Given the description of an element on the screen output the (x, y) to click on. 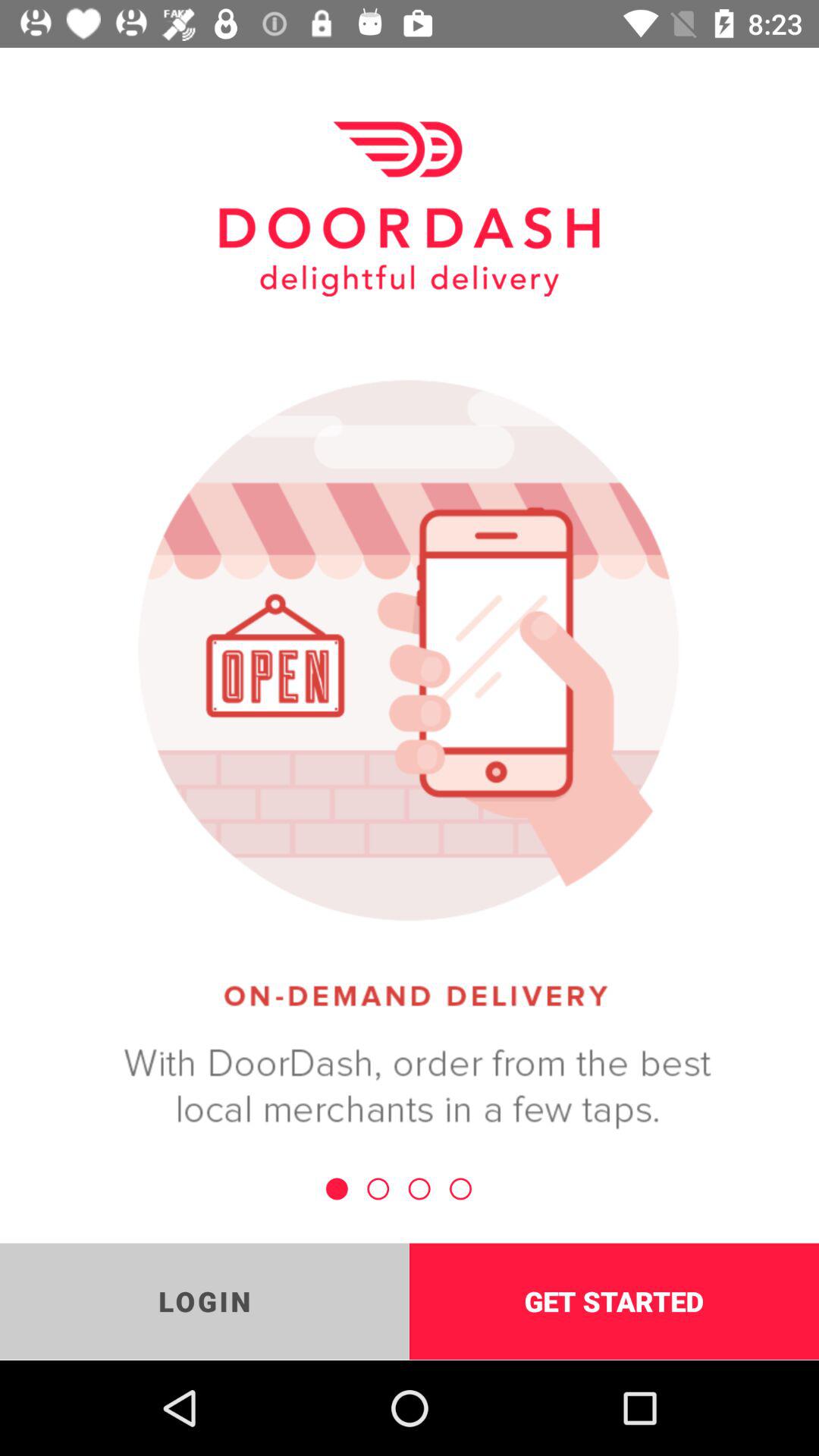
click the item next to login (614, 1301)
